Given the description of an element on the screen output the (x, y) to click on. 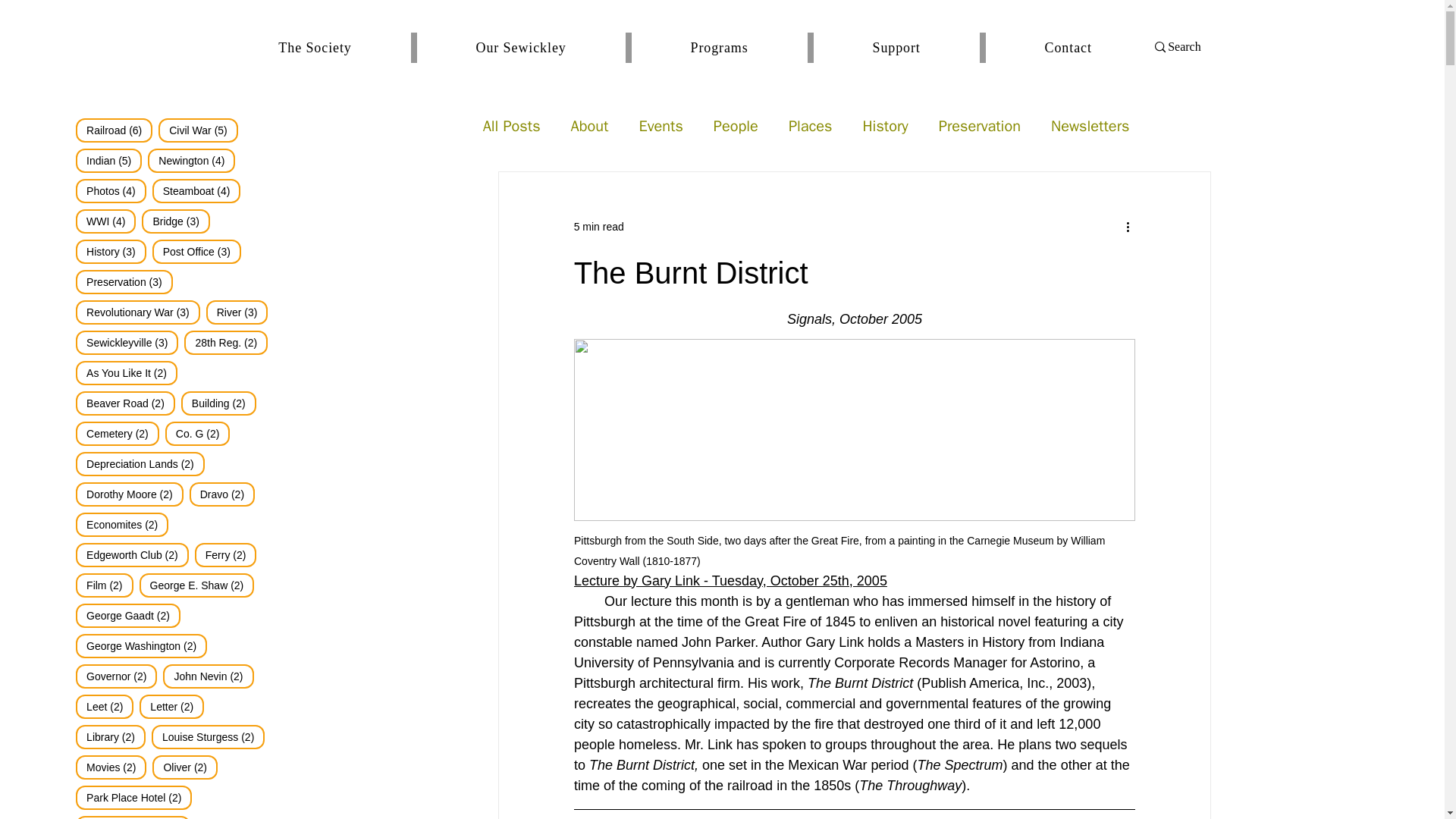
Newsletters (1090, 125)
About (589, 125)
Places (810, 125)
History (884, 125)
People (735, 125)
Events (684, 47)
5 min read (660, 125)
Preservation (598, 225)
All Posts (979, 125)
